Given the description of an element on the screen output the (x, y) to click on. 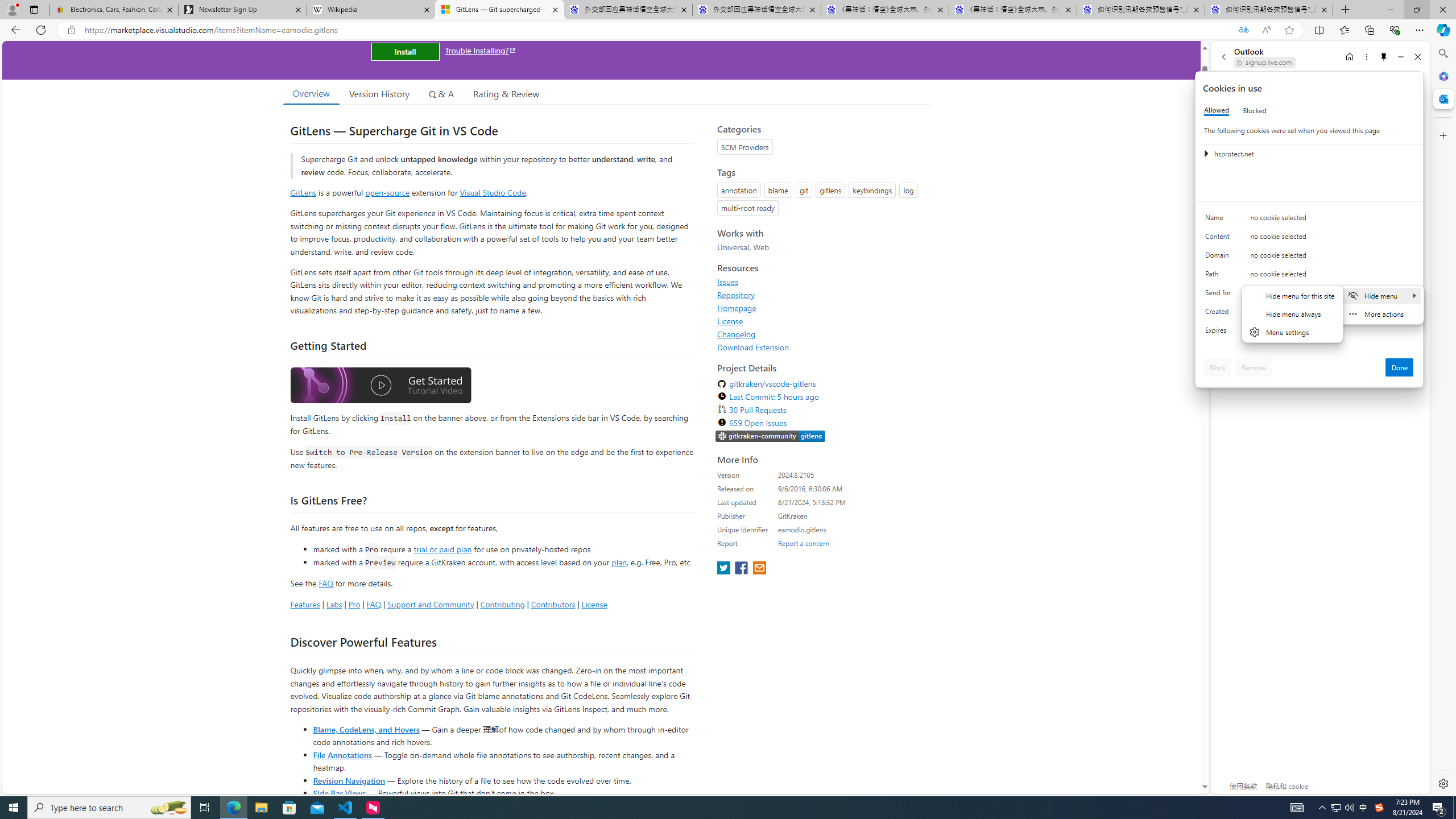
Mini menu on text selection (1381, 304)
Name (1219, 220)
Hide menu (1292, 321)
Content (1219, 239)
no cookie selected (1331, 332)
More actions (1381, 313)
Block (1217, 367)
Done (1399, 367)
Hide menu for this site (1291, 295)
Path (1219, 276)
Domain (1219, 257)
Hide menu (1381, 295)
Class: c0153 c0157 (1309, 332)
Blocked (1255, 110)
Mini menu on text selection (1381, 311)
